Given the description of an element on the screen output the (x, y) to click on. 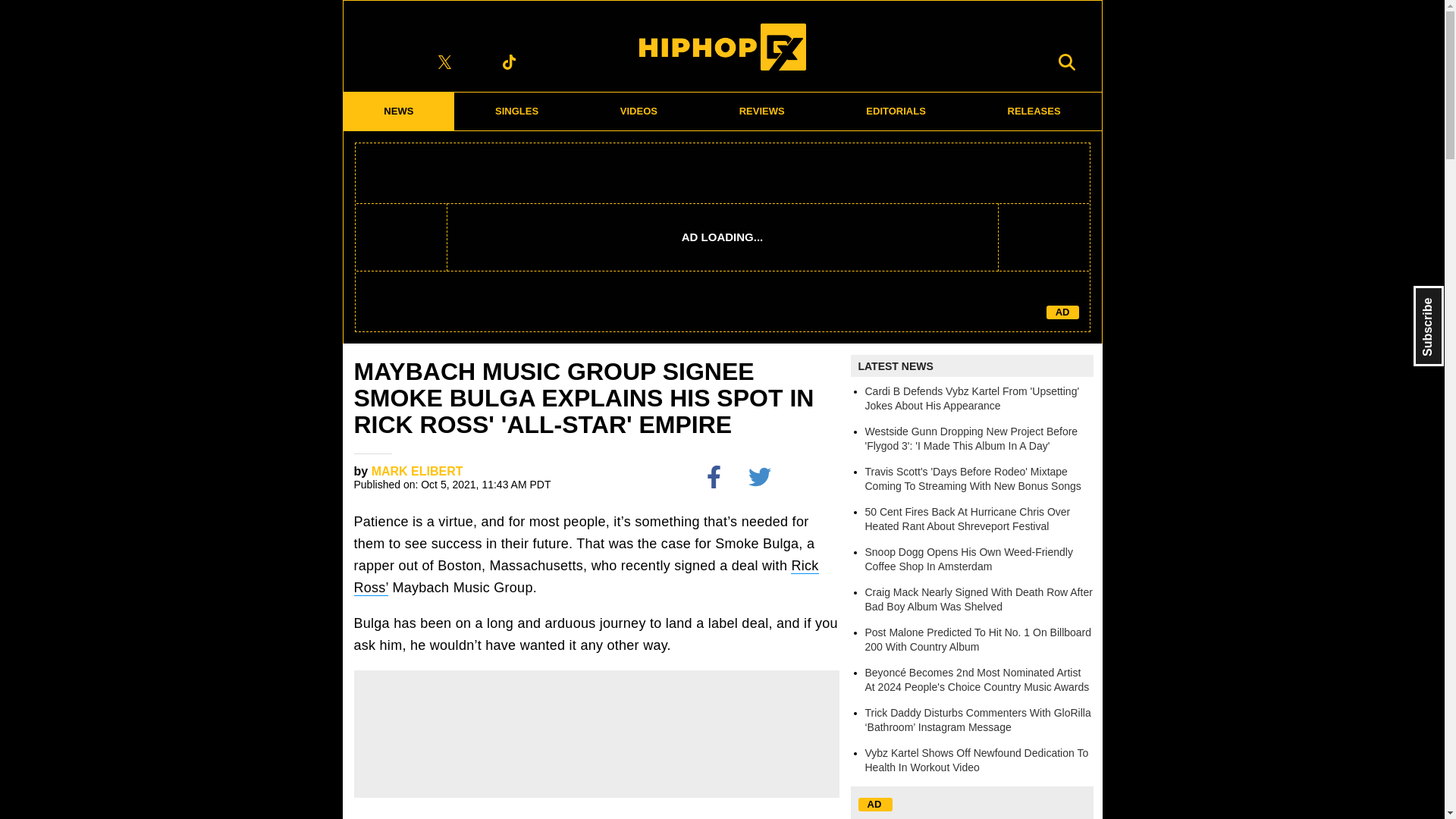
REVIEWS (761, 111)
EDITORIALS (895, 111)
SINGLES (516, 111)
VIDEOS (638, 111)
NEWS (398, 111)
4 (810, 477)
MARK ELIBERT (417, 471)
RELEASES (1034, 111)
